Given the description of an element on the screen output the (x, y) to click on. 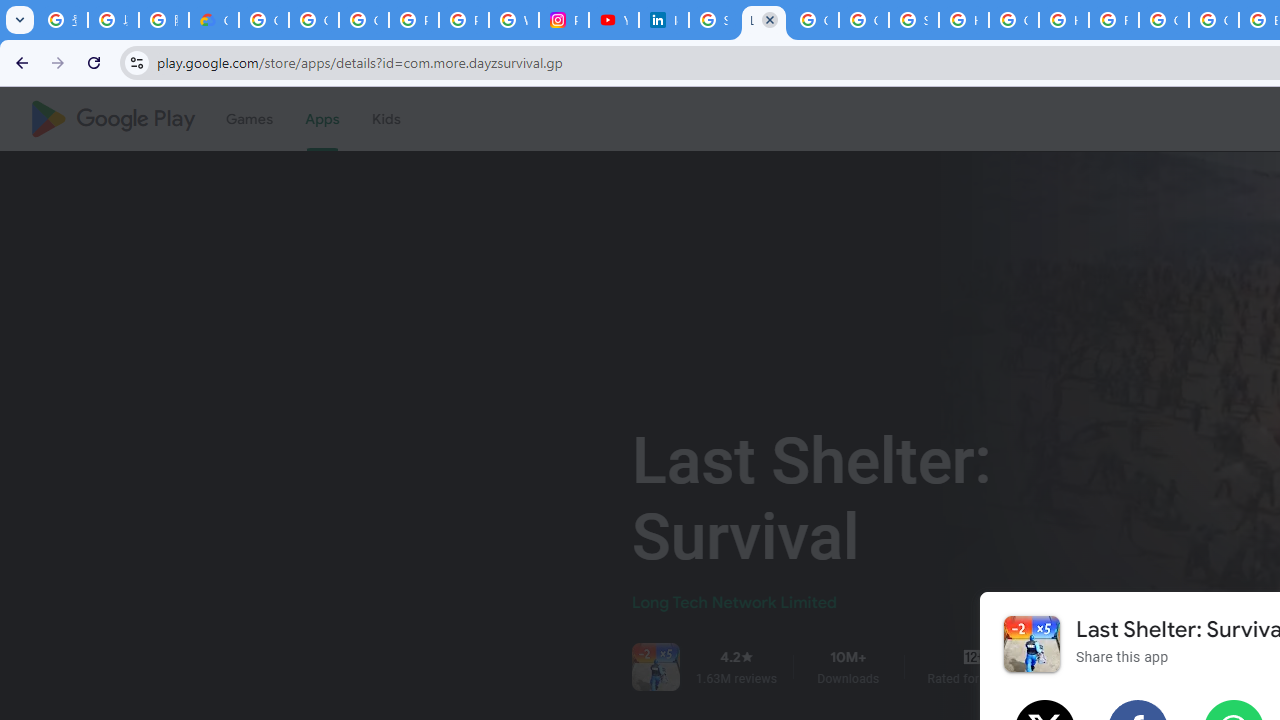
YouTube Culture & Trends - On The Rise: Handcam Videos (613, 20)
Privacy Help Center - Policies Help (463, 20)
Last Shelter: Survival - Apps on Google Play (763, 20)
Sign in - Google Accounts (713, 20)
